Given the description of an element on the screen output the (x, y) to click on. 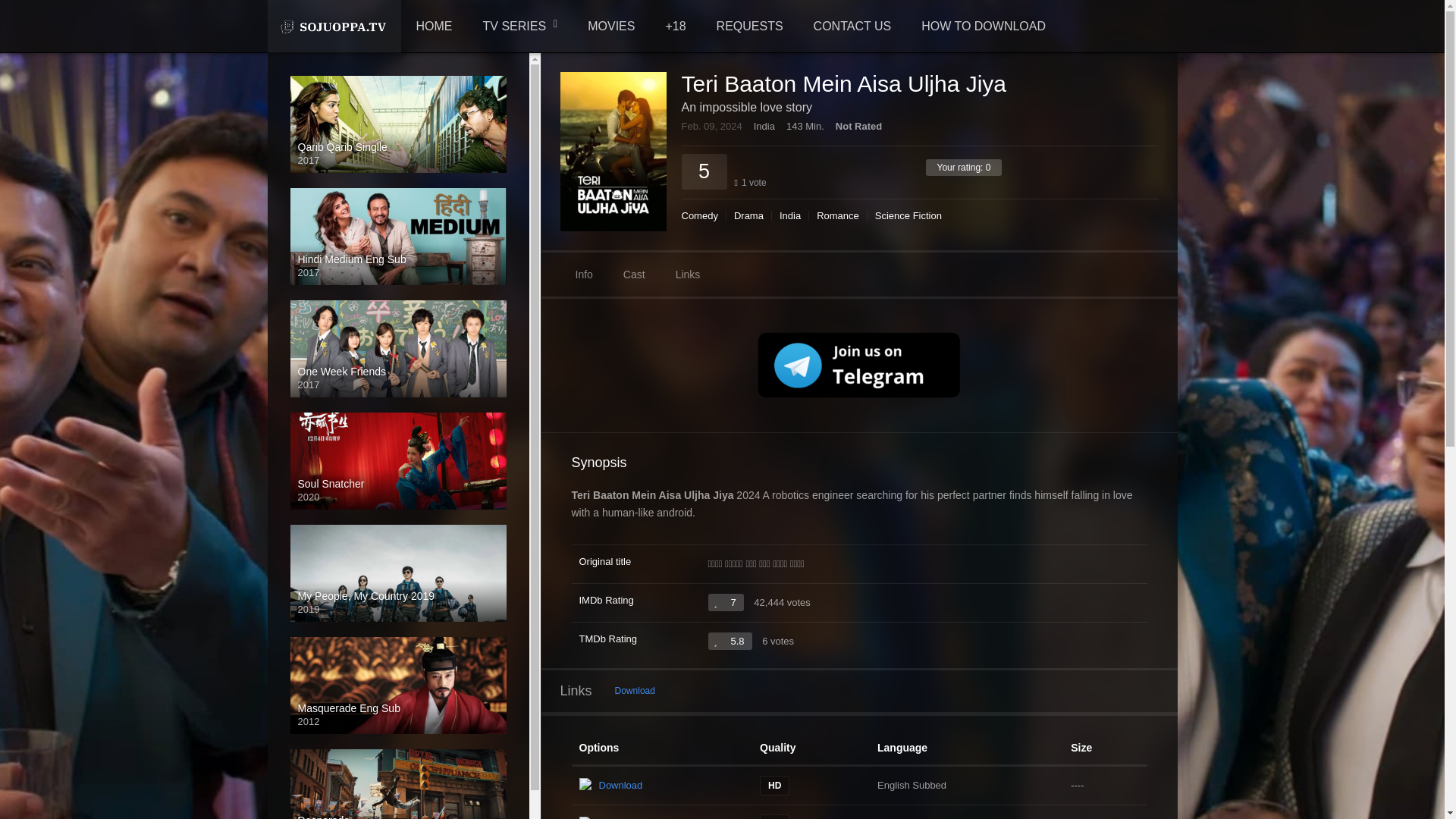
CONTACT US (852, 26)
REQUESTS (749, 26)
HOME (434, 26)
TV SERIES (520, 26)
HOW TO DOWNLOAD (983, 26)
MOVIES (610, 26)
